Given the description of an element on the screen output the (x, y) to click on. 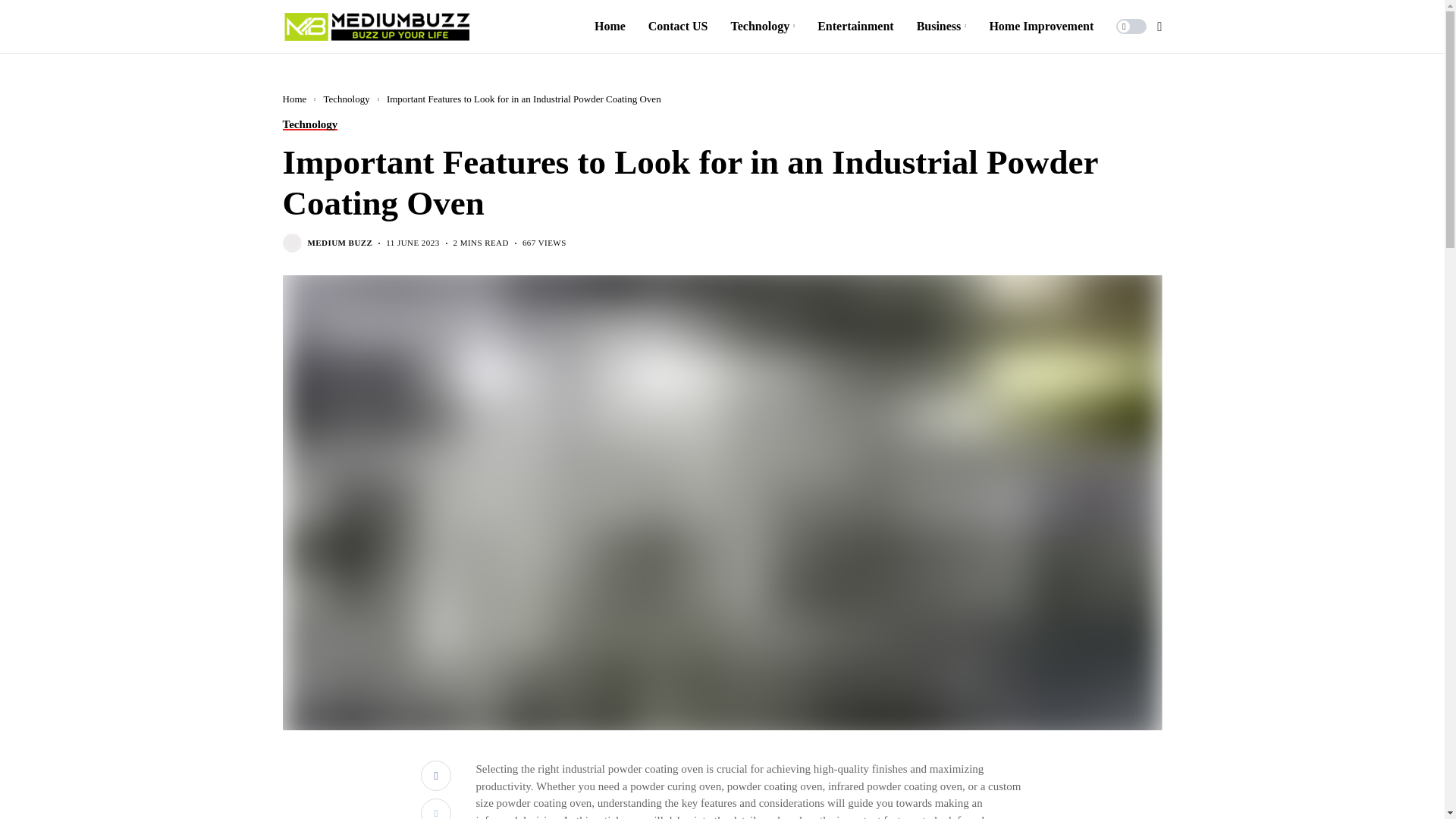
Entertainment (854, 26)
Posts by Medium Buzz (339, 243)
Business (941, 26)
Home Improvement (1040, 26)
Contact US (677, 26)
Technology (762, 26)
